Given the description of an element on the screen output the (x, y) to click on. 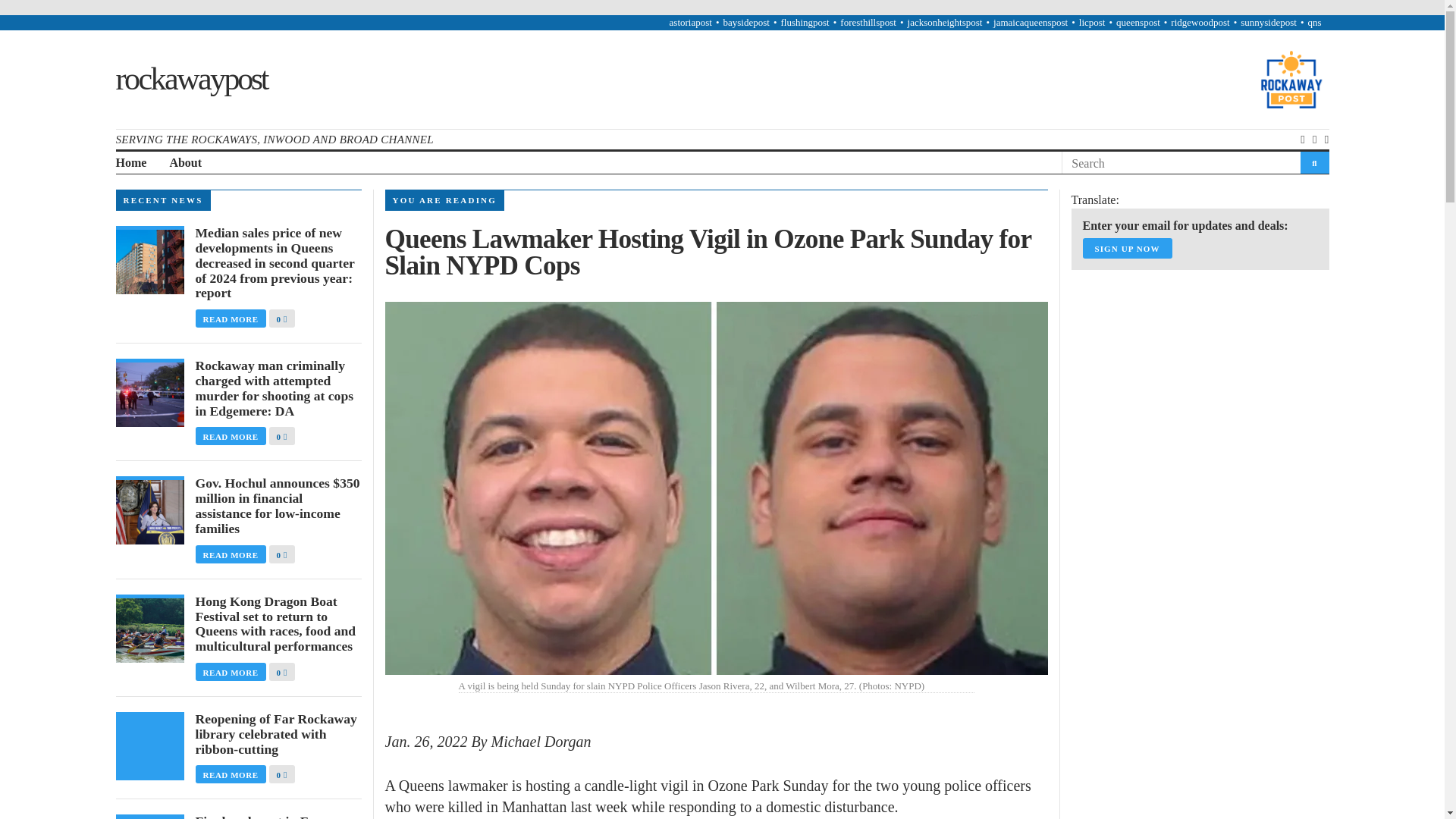
foresthillspost (868, 21)
Home (131, 163)
licpost (1091, 21)
ridgewoodpost (1199, 21)
qns (1313, 21)
jamaicaqueenspost (1029, 21)
rockawaypost (190, 78)
astoriapost (690, 21)
baysidepost (745, 21)
About (185, 163)
sunnysidepost (1268, 21)
queenspost (1138, 21)
flushingpost (804, 21)
jacksonheightspost (944, 21)
